Given the description of an element on the screen output the (x, y) to click on. 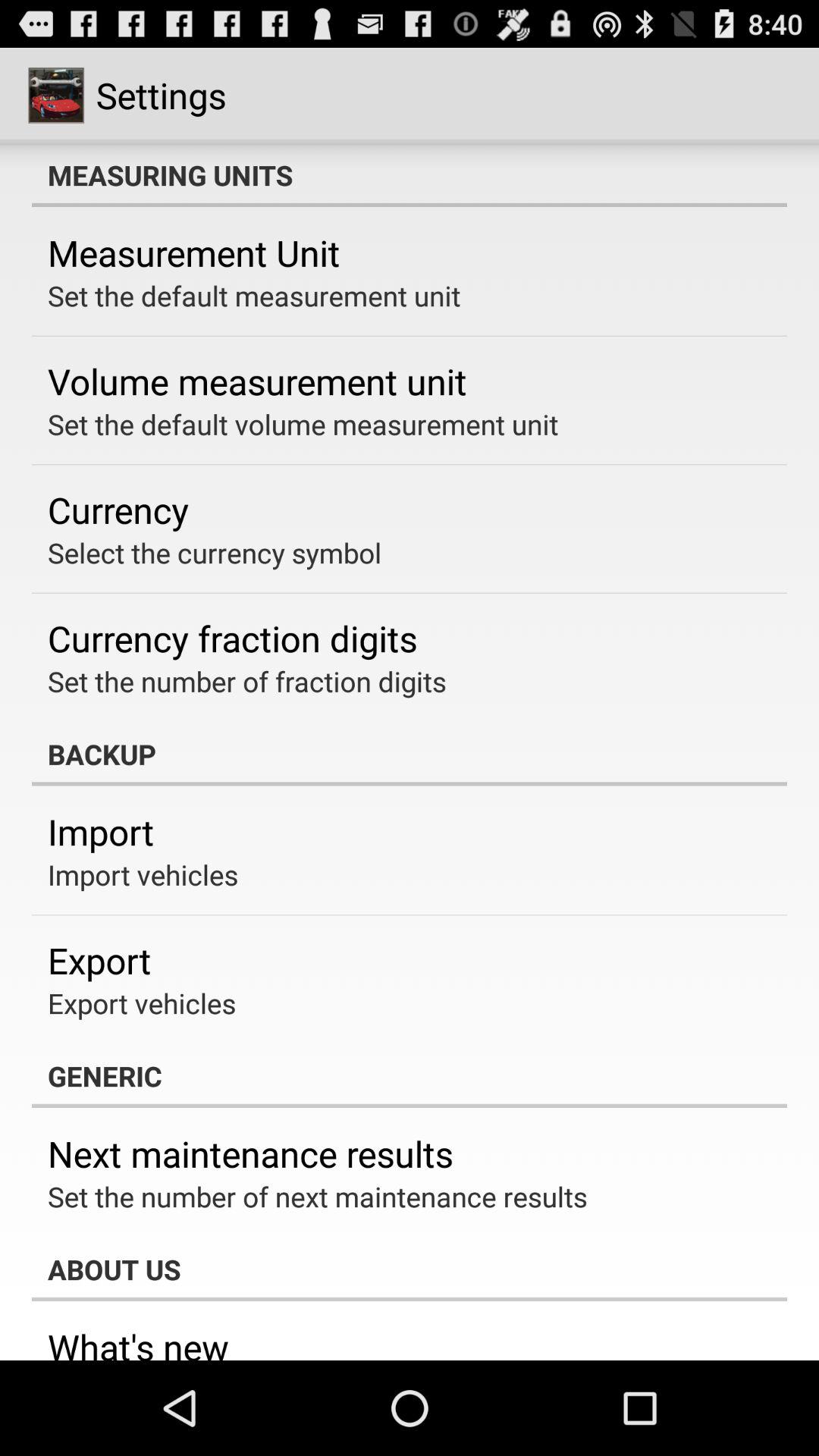
tap the backup at the center (409, 754)
